Given the description of an element on the screen output the (x, y) to click on. 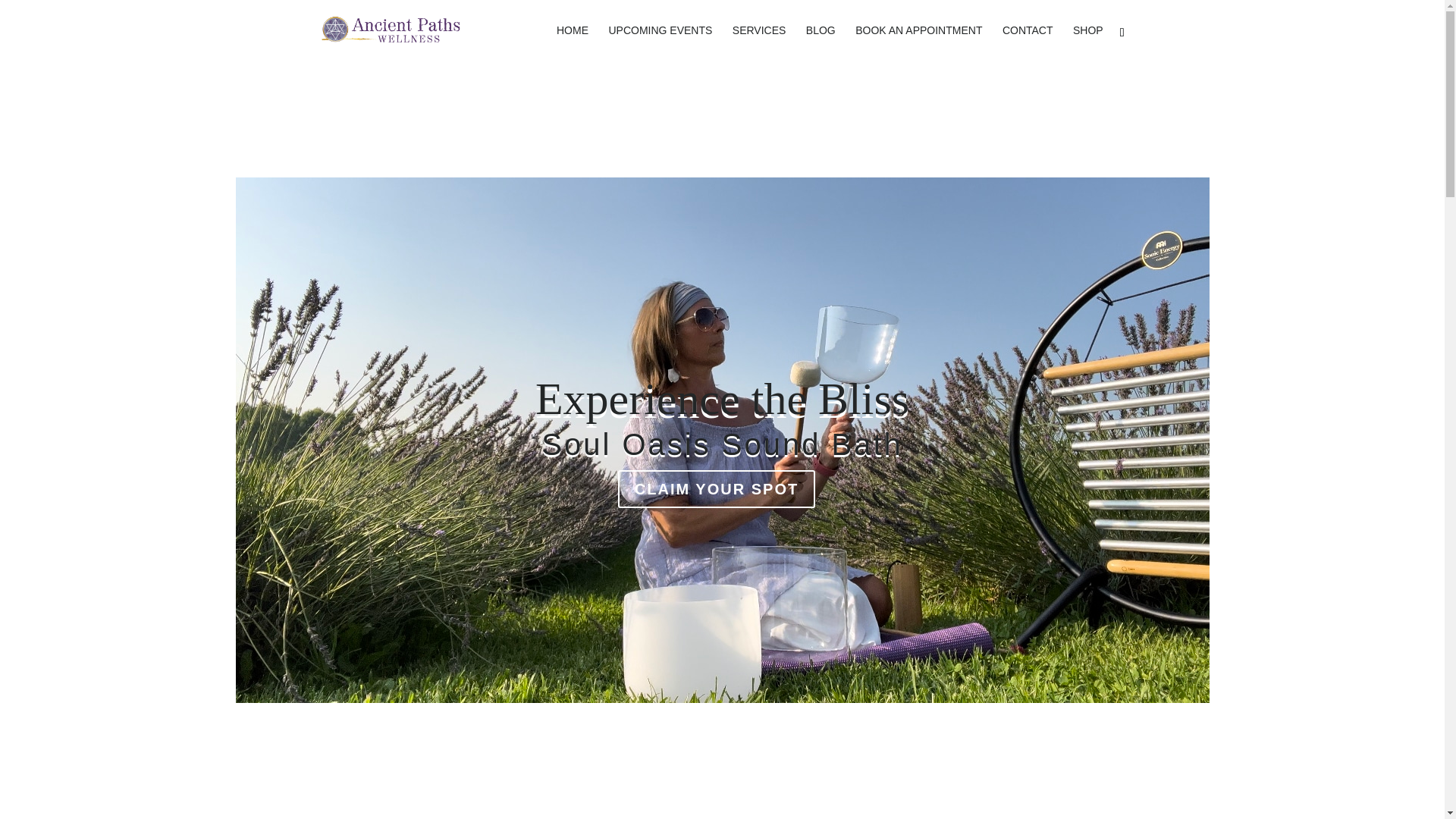
SHOP (1088, 42)
CLAIM YOUR SPOT (716, 488)
CONTACT (1027, 42)
BLOG (820, 42)
UPCOMING EVENTS (659, 42)
SERVICES (759, 42)
BOOK AN APPOINTMENT (918, 42)
HOME (572, 42)
